Given the description of an element on the screen output the (x, y) to click on. 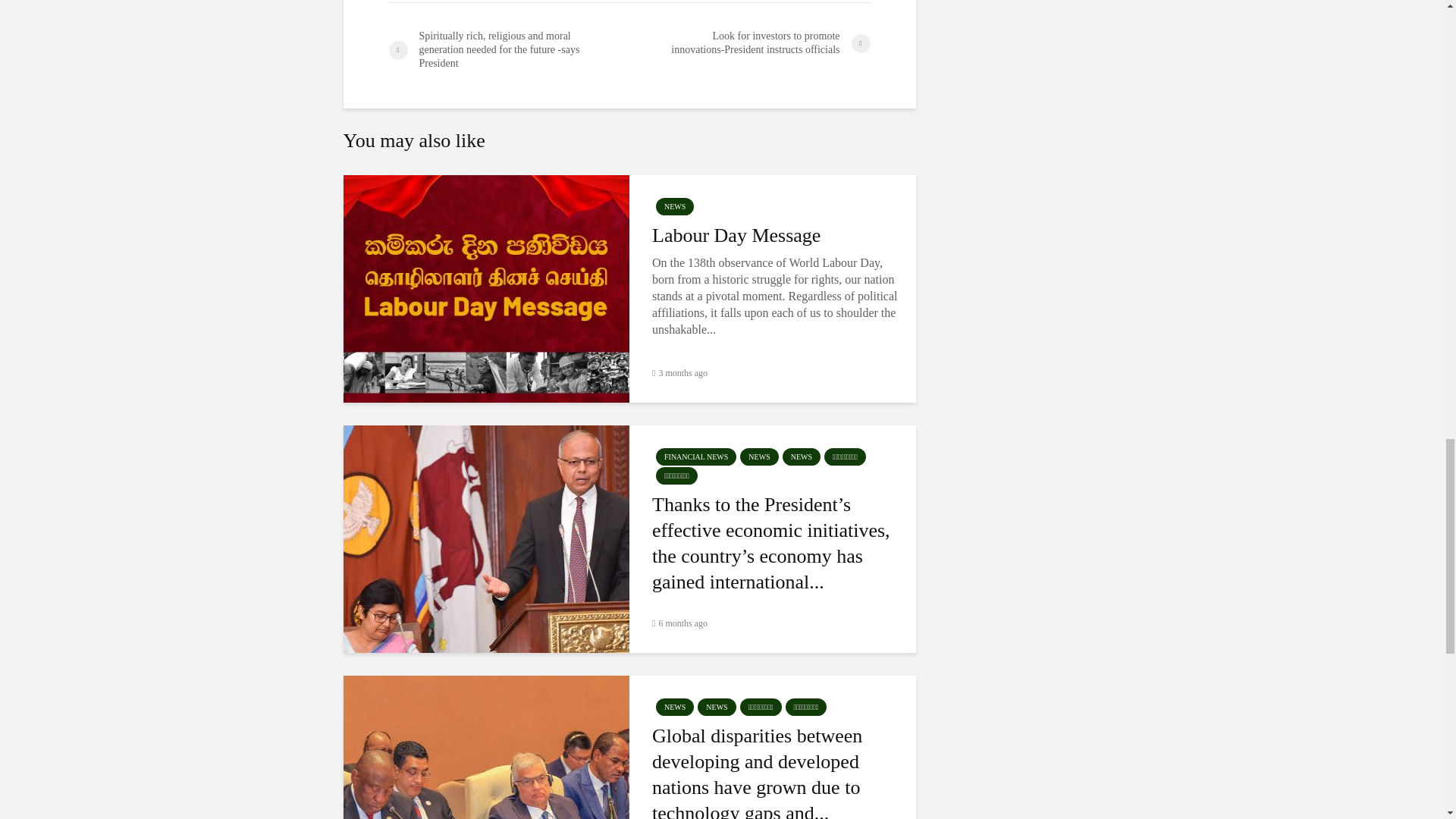
NEWS (675, 206)
Labour Day Message (485, 287)
Labour Day Message (775, 235)
